Given the description of an element on the screen output the (x, y) to click on. 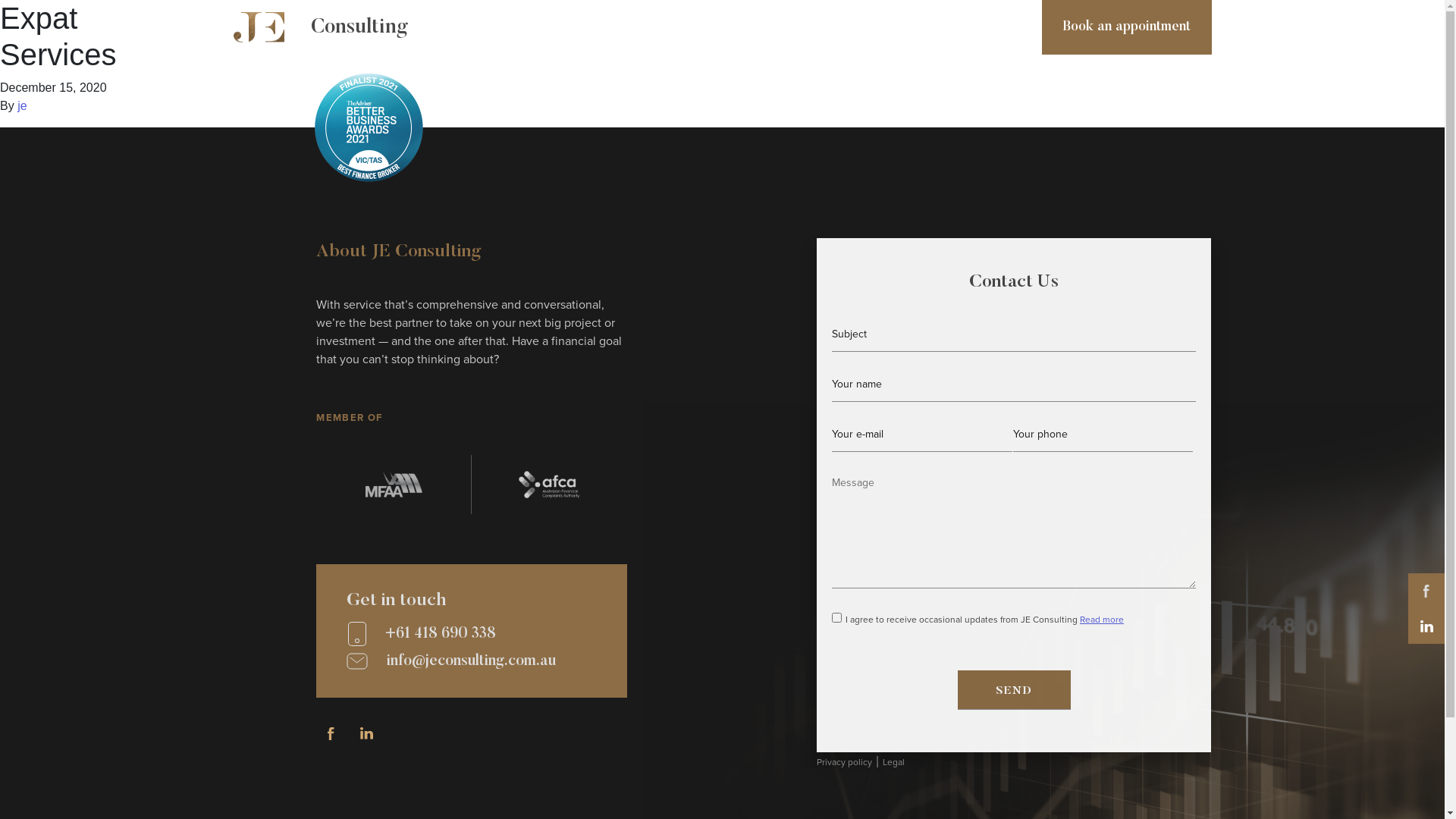
Book an appointment Element type: text (1126, 27)
info@jeconsulting.com.au Element type: text (471, 660)
Read more Element type: text (1101, 619)
Privacy policy Element type: text (844, 761)
Legal Element type: text (893, 761)
+61 418 690 338 Element type: text (471, 633)
Consulting Element type: text (320, 27)
send Element type: text (1013, 689)
je Element type: text (21, 105)
